Given the description of an element on the screen output the (x, y) to click on. 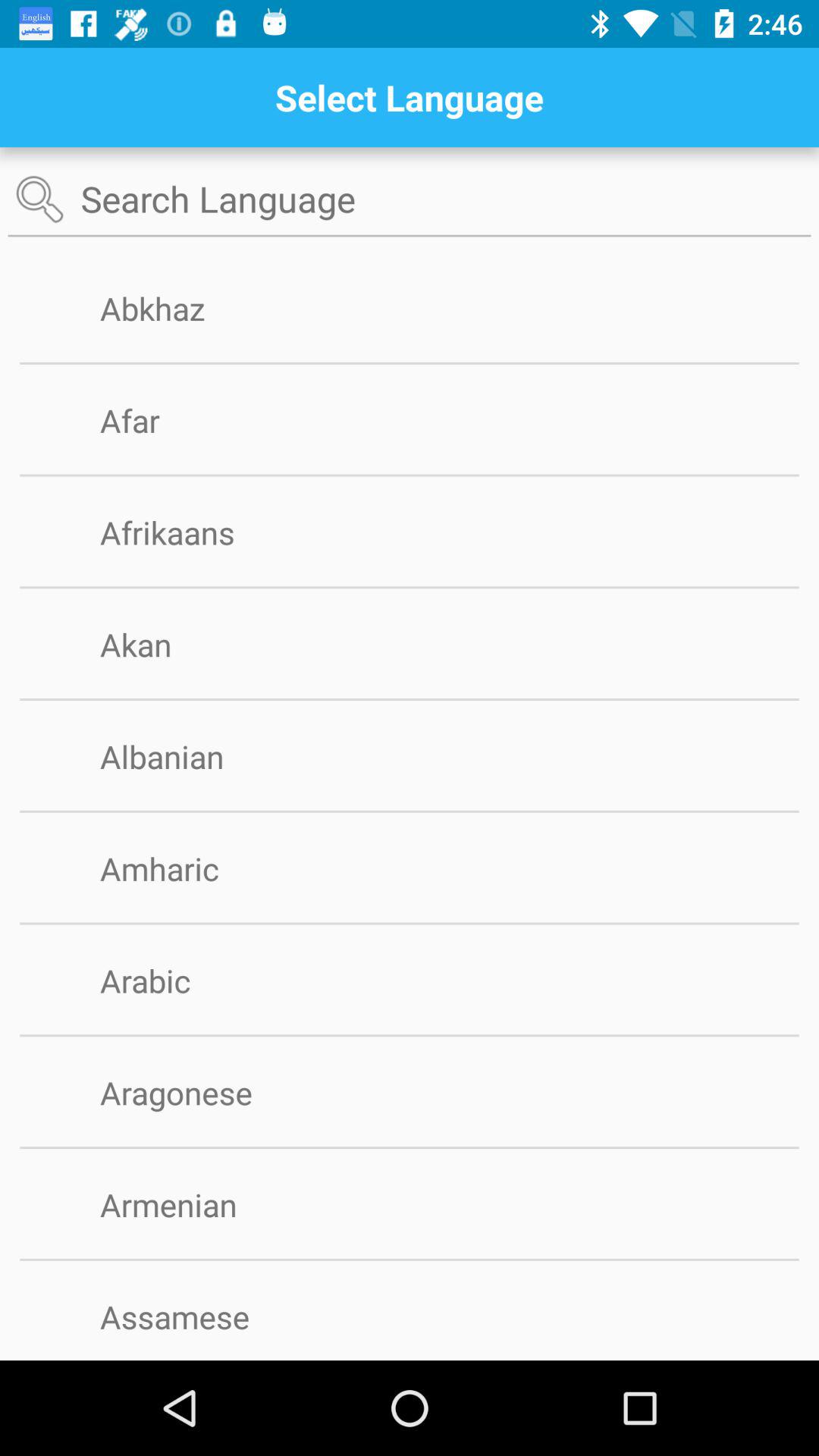
turn on icon above the amharic icon (409, 811)
